Given the description of an element on the screen output the (x, y) to click on. 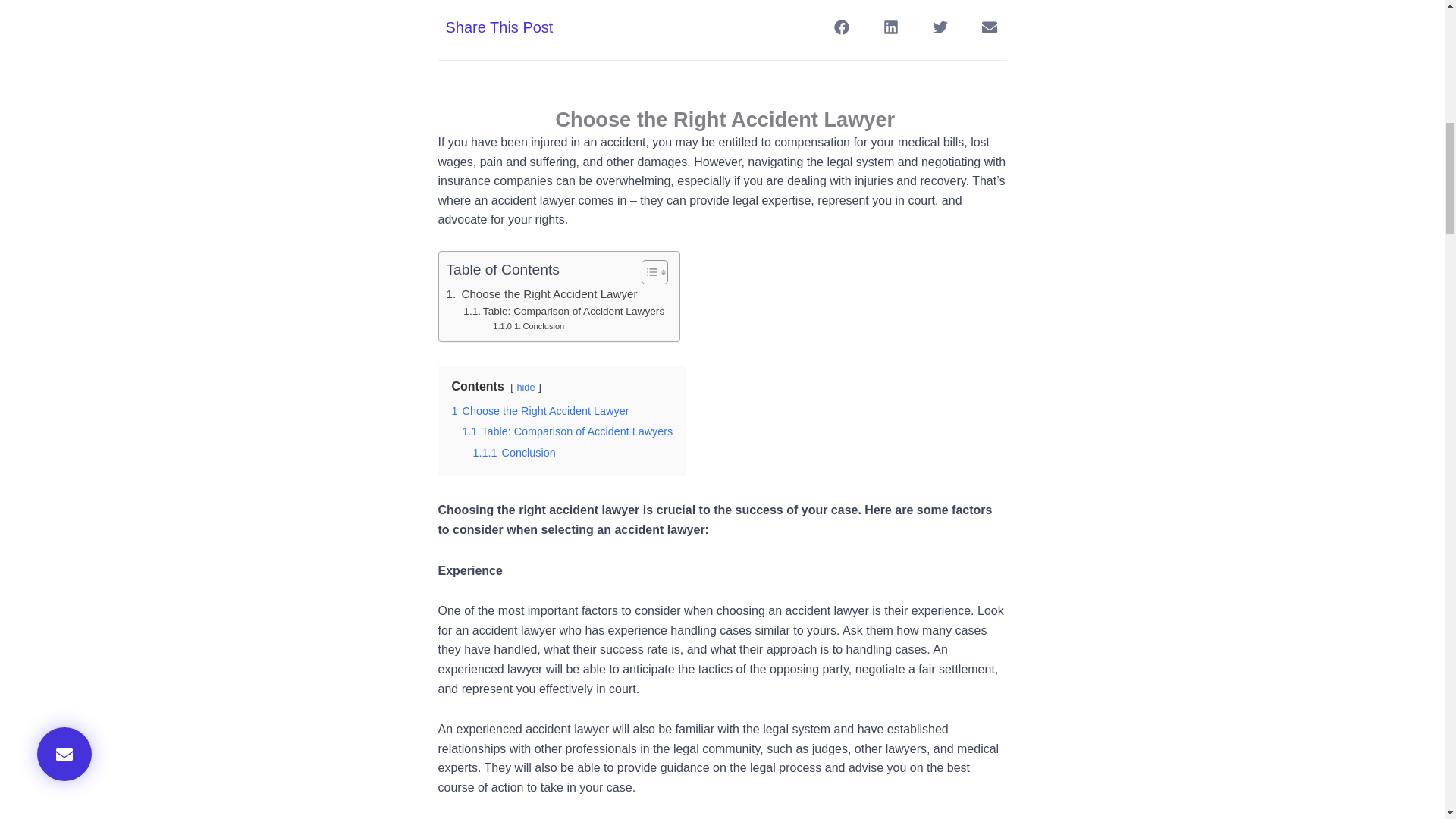
Table: Comparison of Accident Lawyers (563, 311)
Conclusion (528, 326)
